Given the description of an element on the screen output the (x, y) to click on. 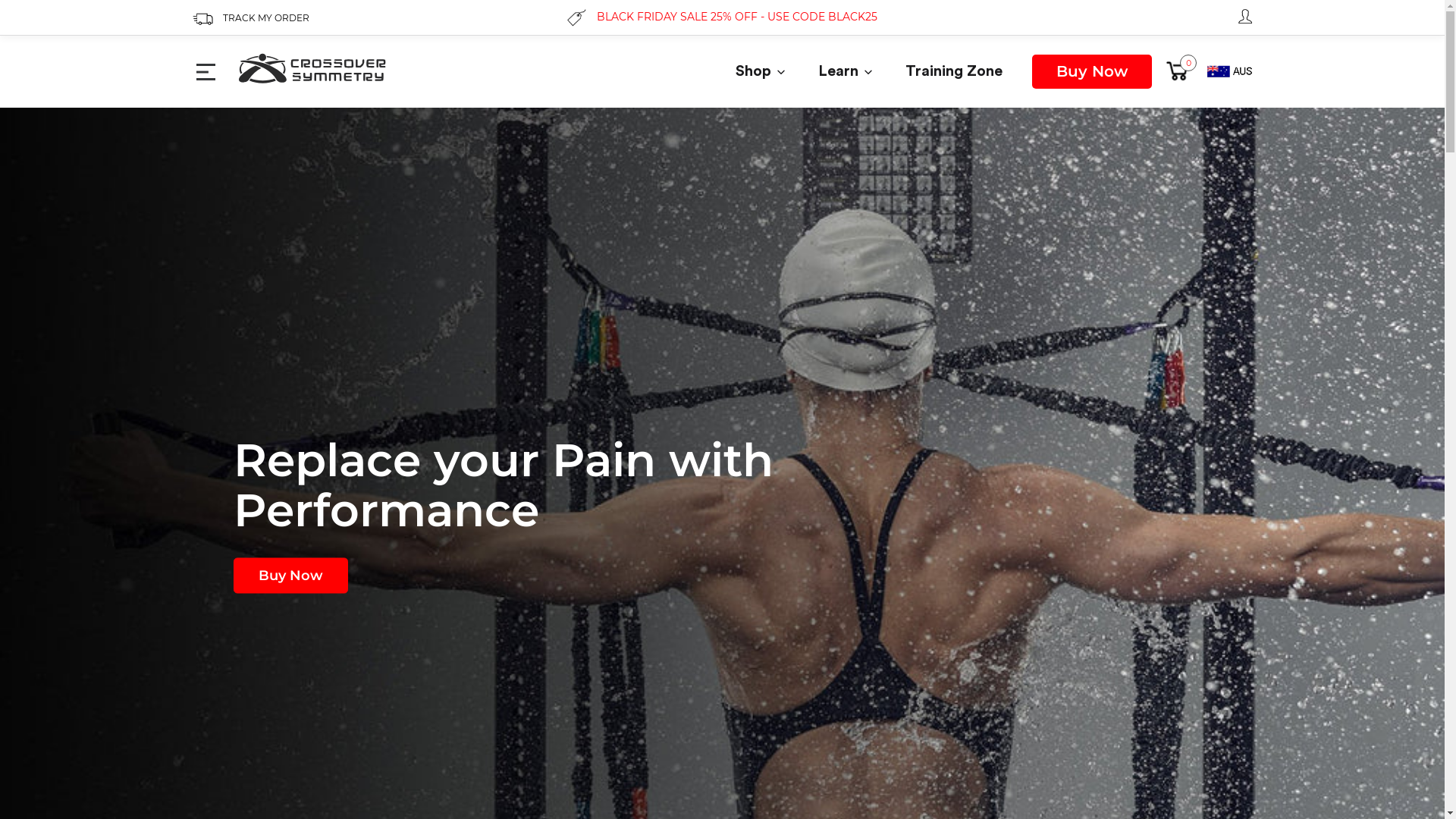
TRACK MY ORDER Element type: text (250, 18)
Training Zone Element type: text (953, 70)
0 Element type: text (1177, 70)
Buy Now Element type: text (290, 575)
Learn Element type: text (845, 70)
LOG IN Element type: text (1245, 14)
Buy Now Element type: text (1091, 71)
Shop Element type: text (760, 70)
BLACK FRIDAY SALE 25% OFF - USE CODE BLACK25 Element type: text (722, 17)
IMAGE/SVG+XML Element type: text (311, 70)
